Given the description of an element on the screen output the (x, y) to click on. 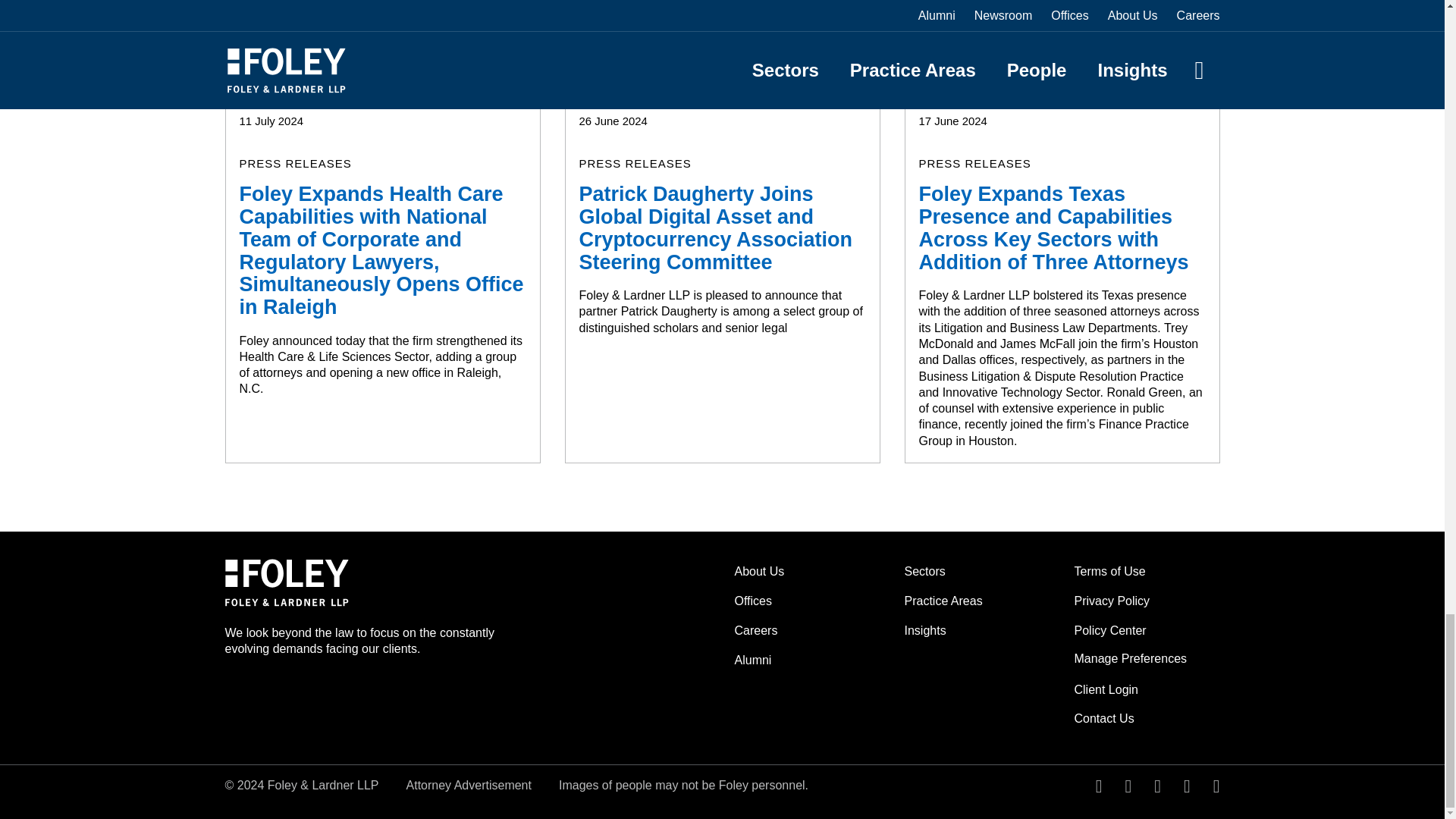
View All Posts (1166, 49)
